Given the description of an element on the screen output the (x, y) to click on. 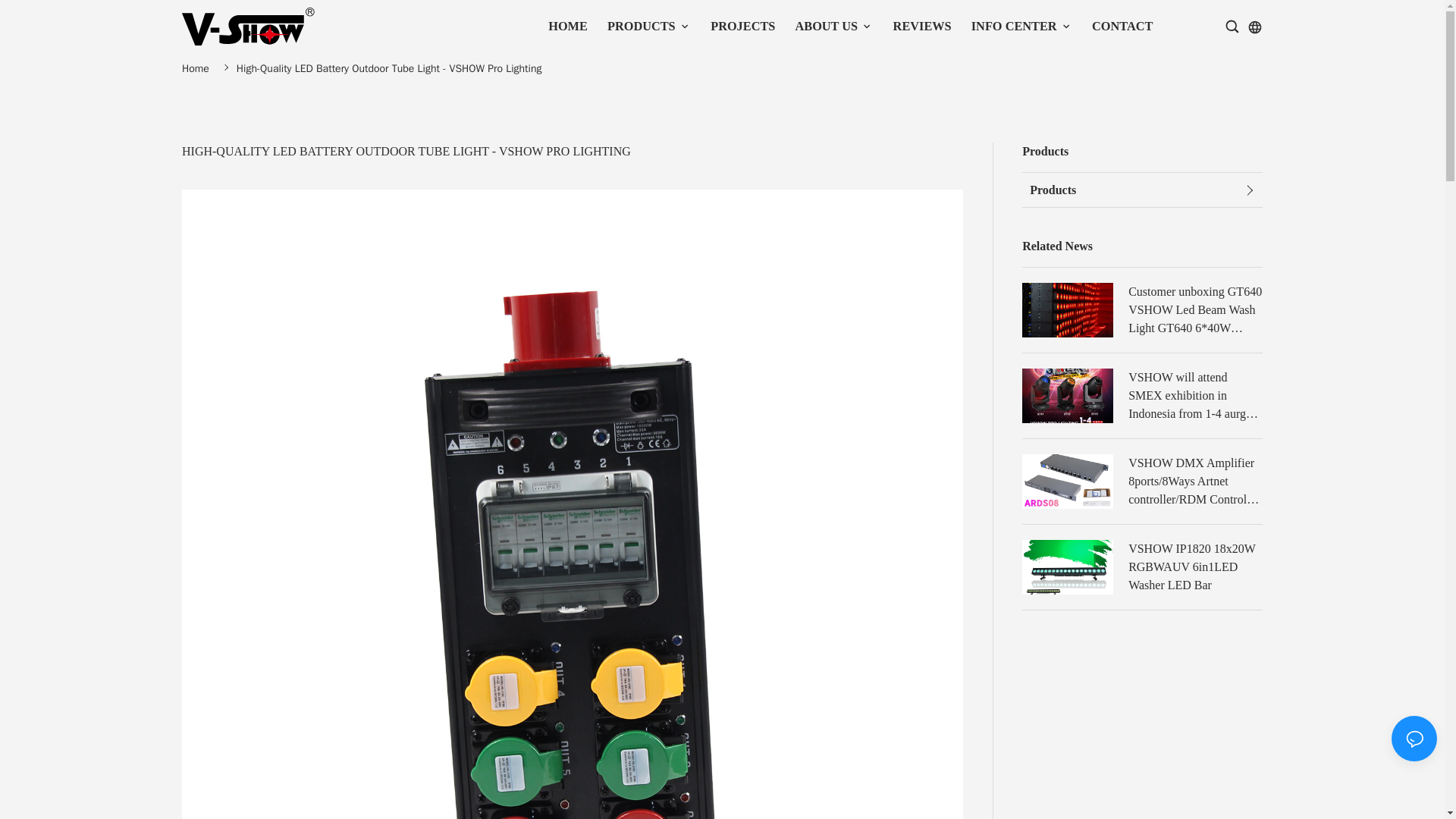
HOME (567, 26)
PROJECTS (742, 26)
PRODUCTS (648, 26)
Products (641, 26)
REVIEWS (921, 26)
About Us (825, 26)
Info Center (1014, 26)
CONTACT (1121, 26)
ABOUT US (833, 26)
Projects (742, 26)
Contact (1122, 26)
VSHOW-Logo-red (248, 26)
Home (568, 26)
INFO CENTER (1020, 26)
Reviews (922, 26)
